Given the description of an element on the screen output the (x, y) to click on. 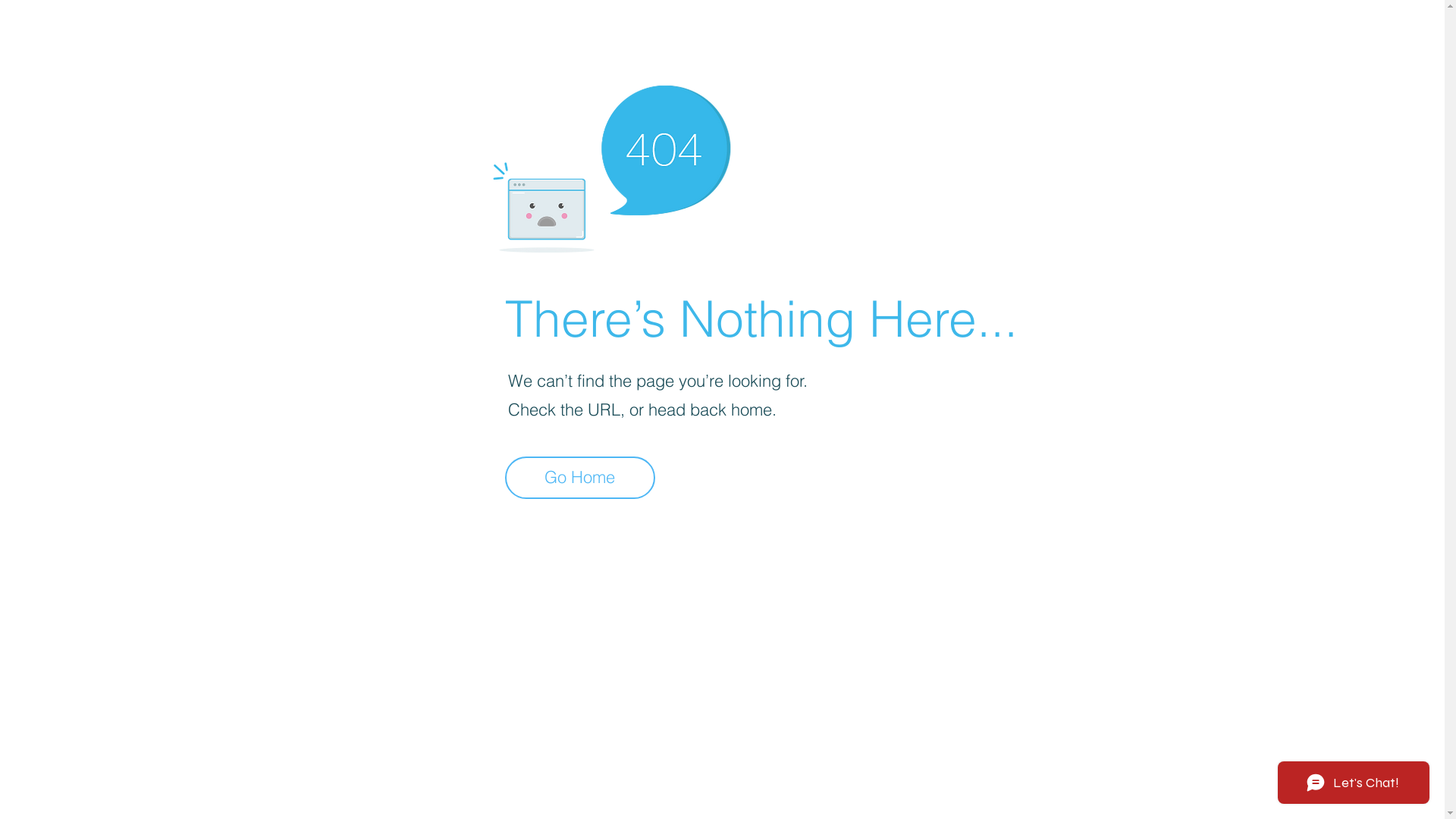
404-icon_2.png Element type: hover (610, 164)
Go Home Element type: text (580, 477)
